Given the description of an element on the screen output the (x, y) to click on. 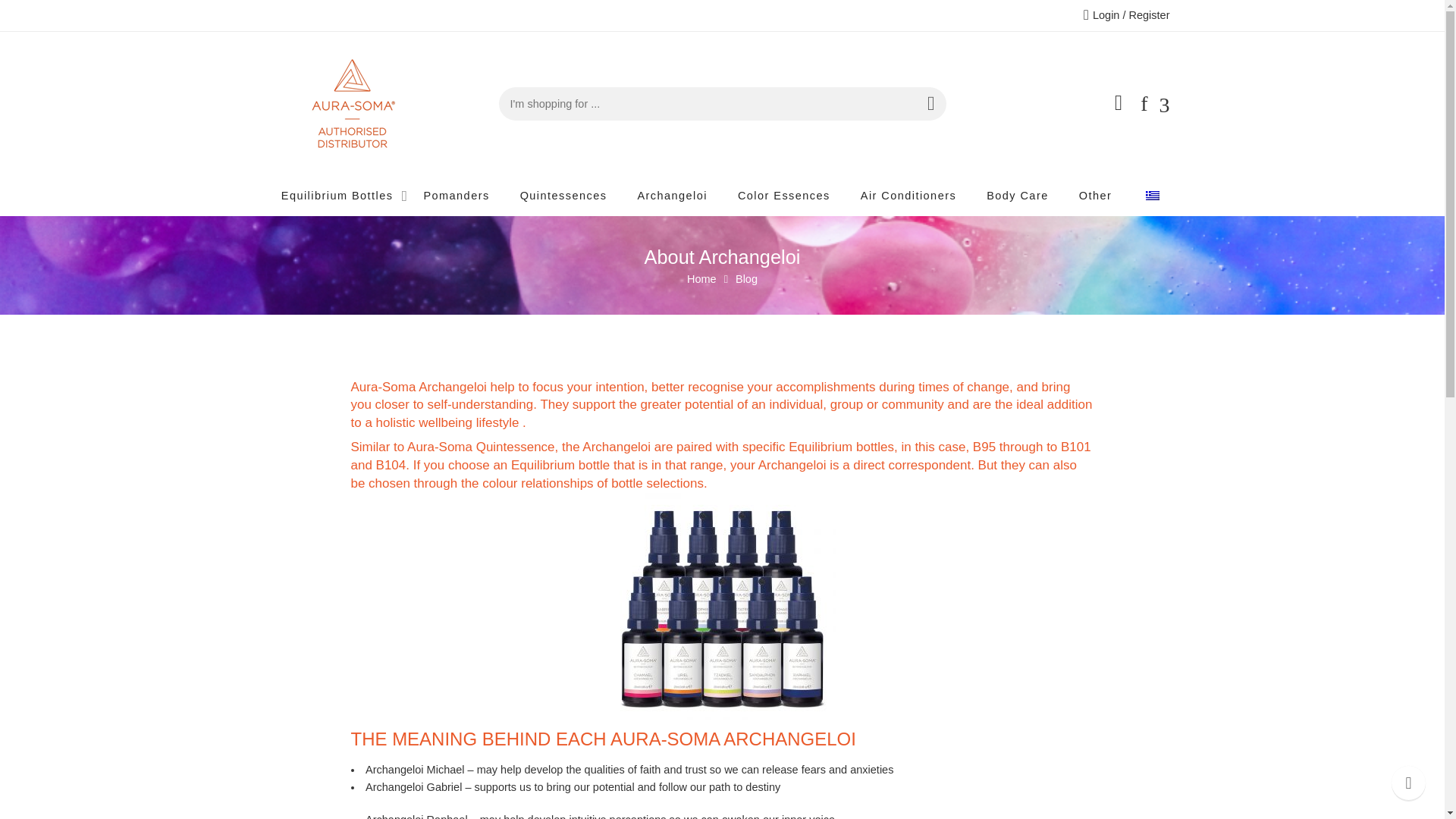
Body Care (1017, 196)
Color Essences (783, 196)
Archangeloi (672, 196)
Quintessences (563, 196)
Home (701, 279)
Color Essences (783, 196)
Quintessences (563, 196)
Pomanders (456, 196)
Pomanders (456, 196)
Blog (746, 279)
